Given the description of an element on the screen output the (x, y) to click on. 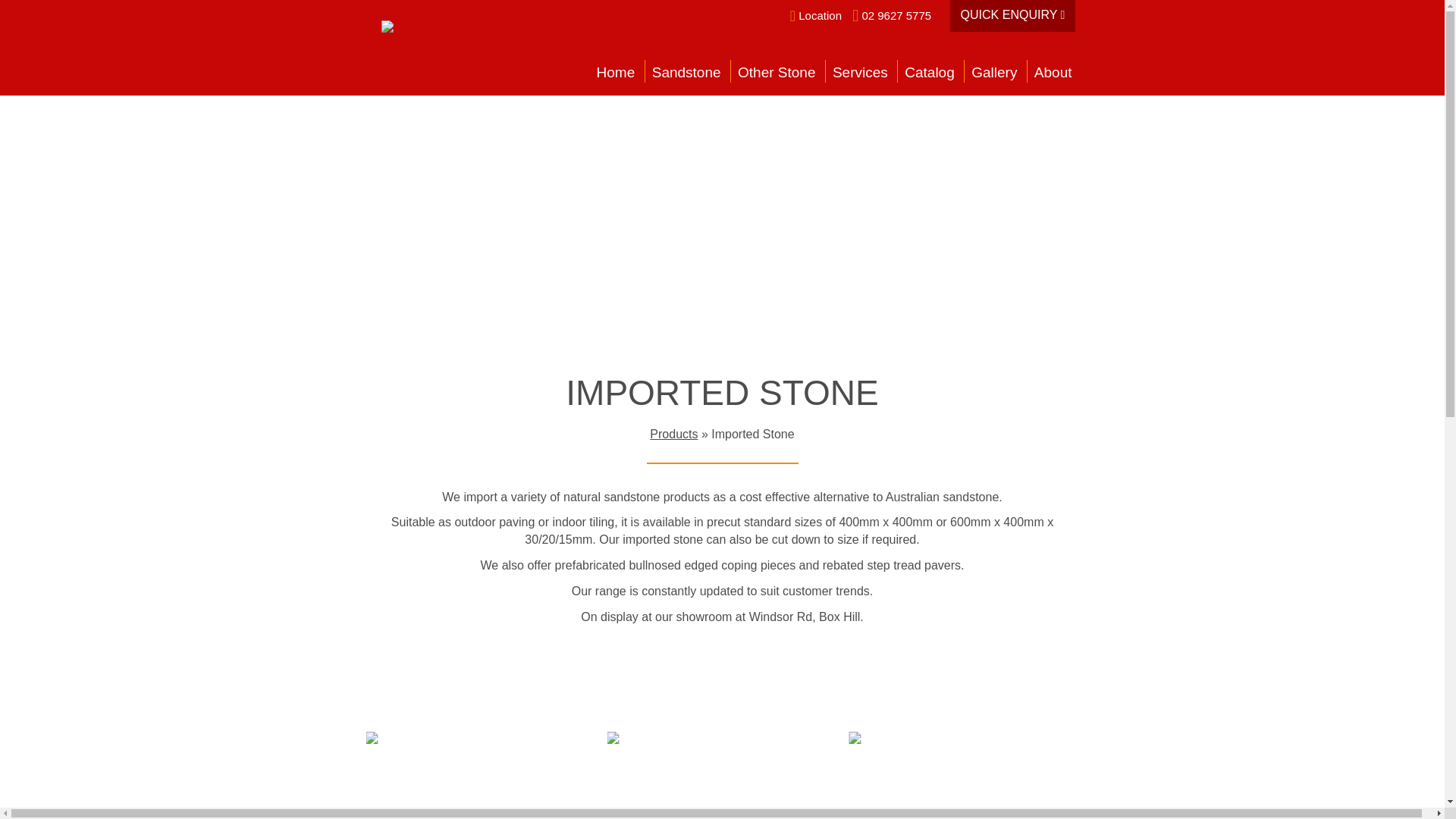
Home (616, 74)
Location (815, 15)
Sandstone (687, 74)
02 9627 5775 (891, 15)
QUICK ENQUIRY (1012, 15)
